Given the description of an element on the screen output the (x, y) to click on. 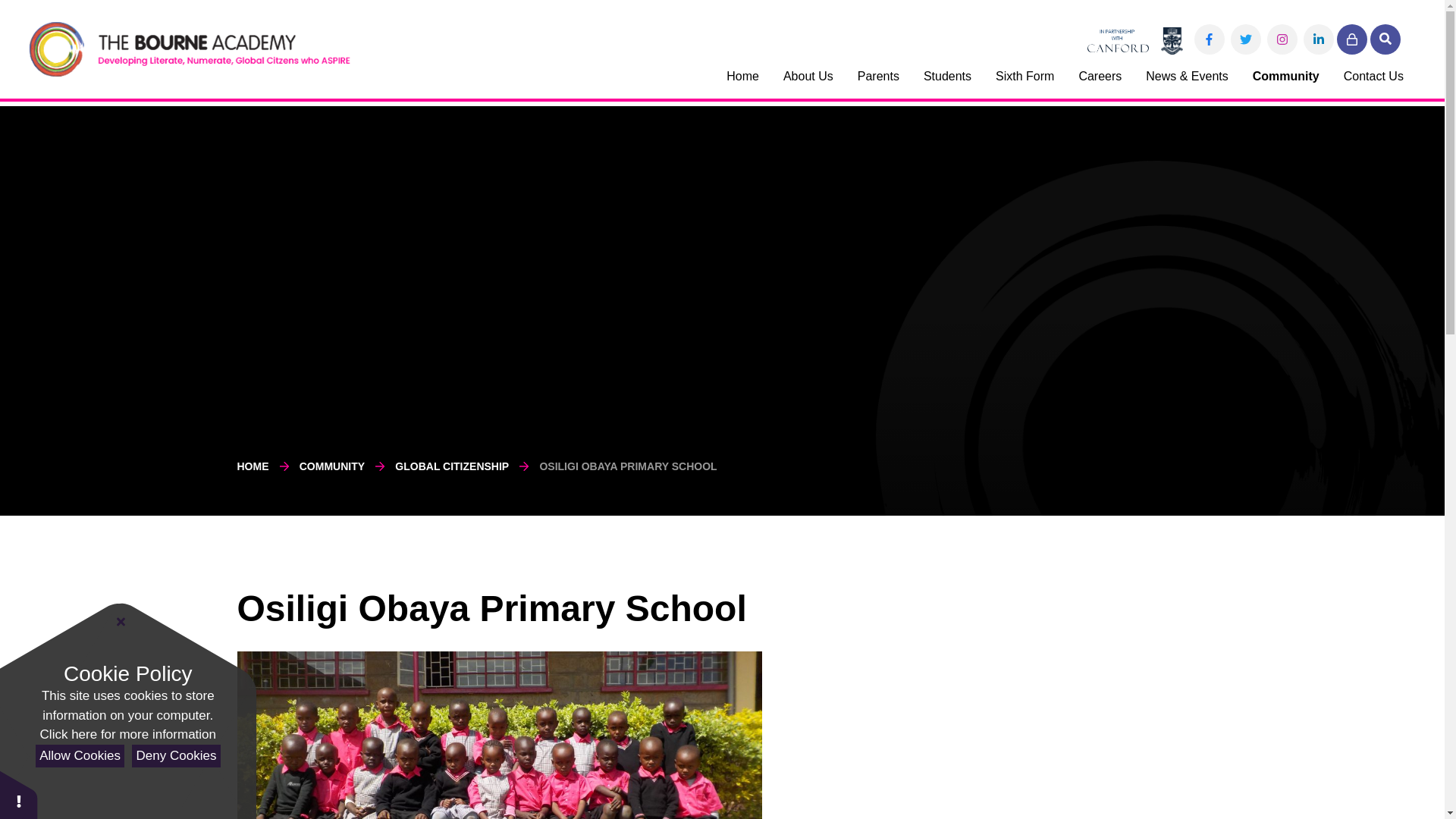
Home (742, 82)
See cookie policy (127, 734)
Allow Cookies (78, 756)
About Us (808, 82)
Deny Cookies (175, 756)
